Given the description of an element on the screen output the (x, y) to click on. 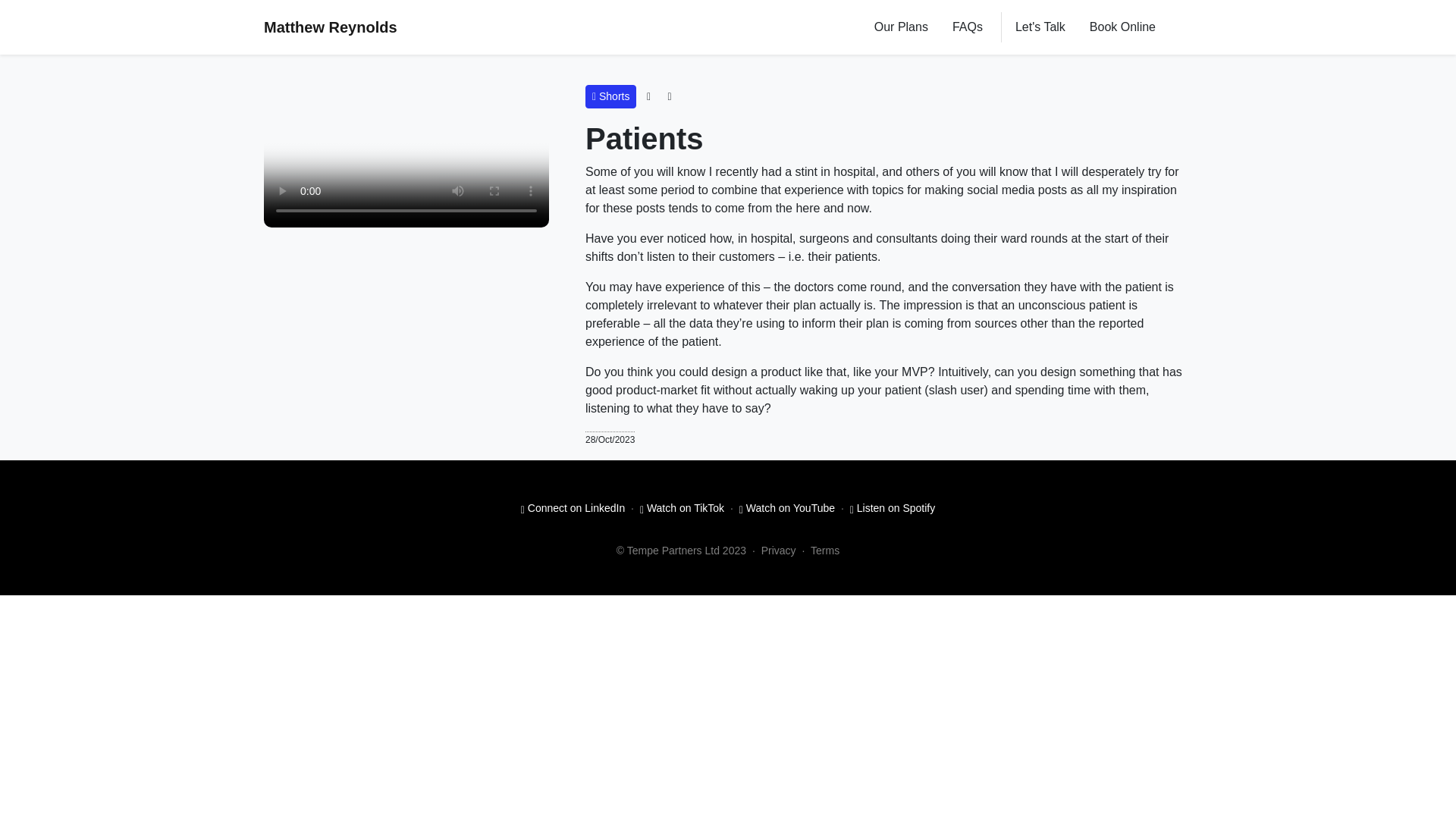
Shorts (610, 96)
Terms (825, 550)
Matthew Reynolds (330, 27)
Privacy (778, 550)
FAQs (967, 27)
Our Plans (900, 27)
Watch on YouTube (786, 508)
Connect on LinkedIn (572, 508)
Listen on Spotify (893, 508)
Let's Talk (1040, 27)
